Given the description of an element on the screen output the (x, y) to click on. 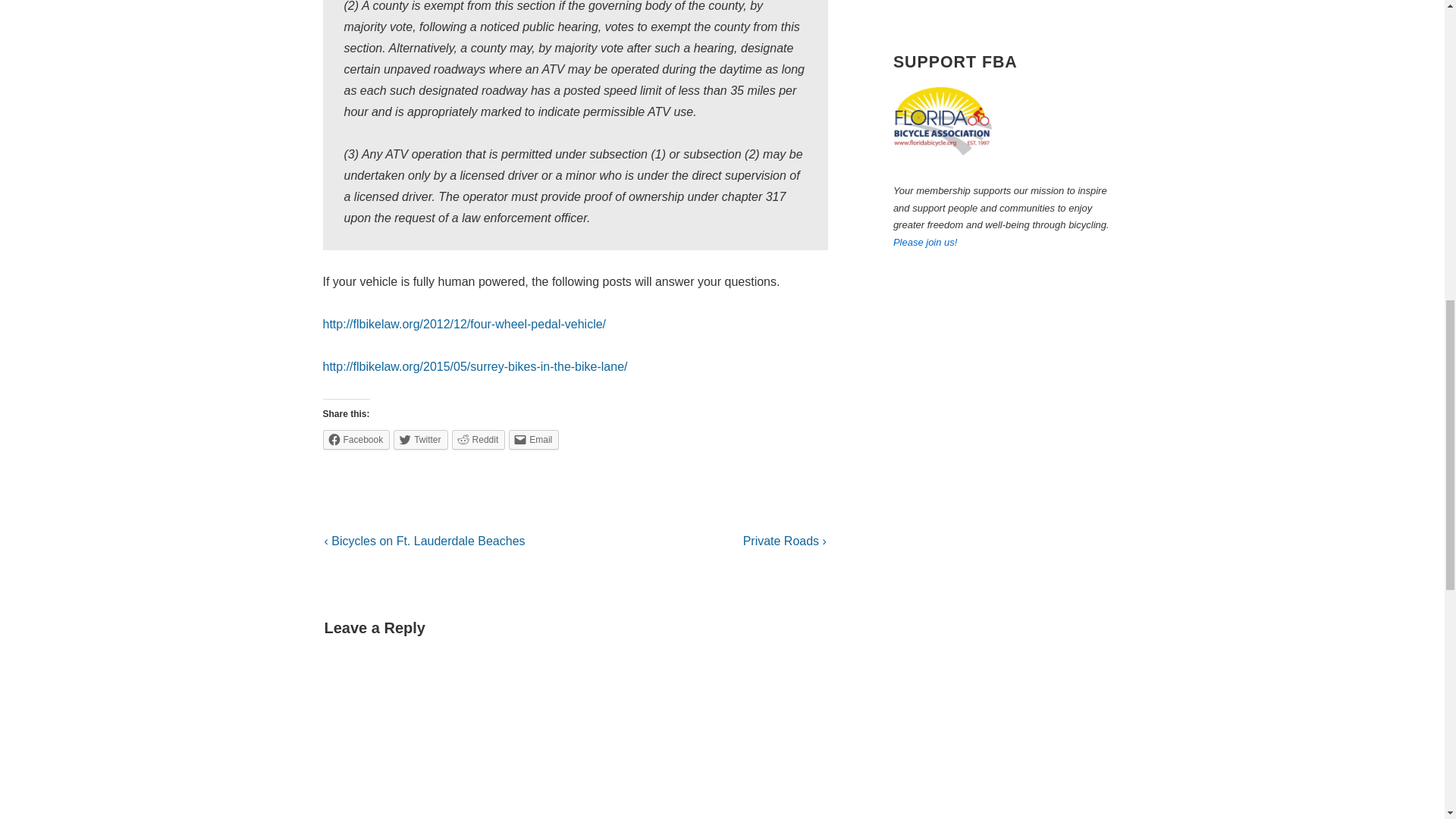
Reddit (478, 439)
Email (533, 439)
Comment Form (575, 739)
Click to email this to a friend (533, 439)
Click to share on Facebook (356, 439)
Click to share on Twitter (419, 439)
Twitter (419, 439)
Facebook (356, 439)
Click to share on Reddit (478, 439)
